Given the description of an element on the screen output the (x, y) to click on. 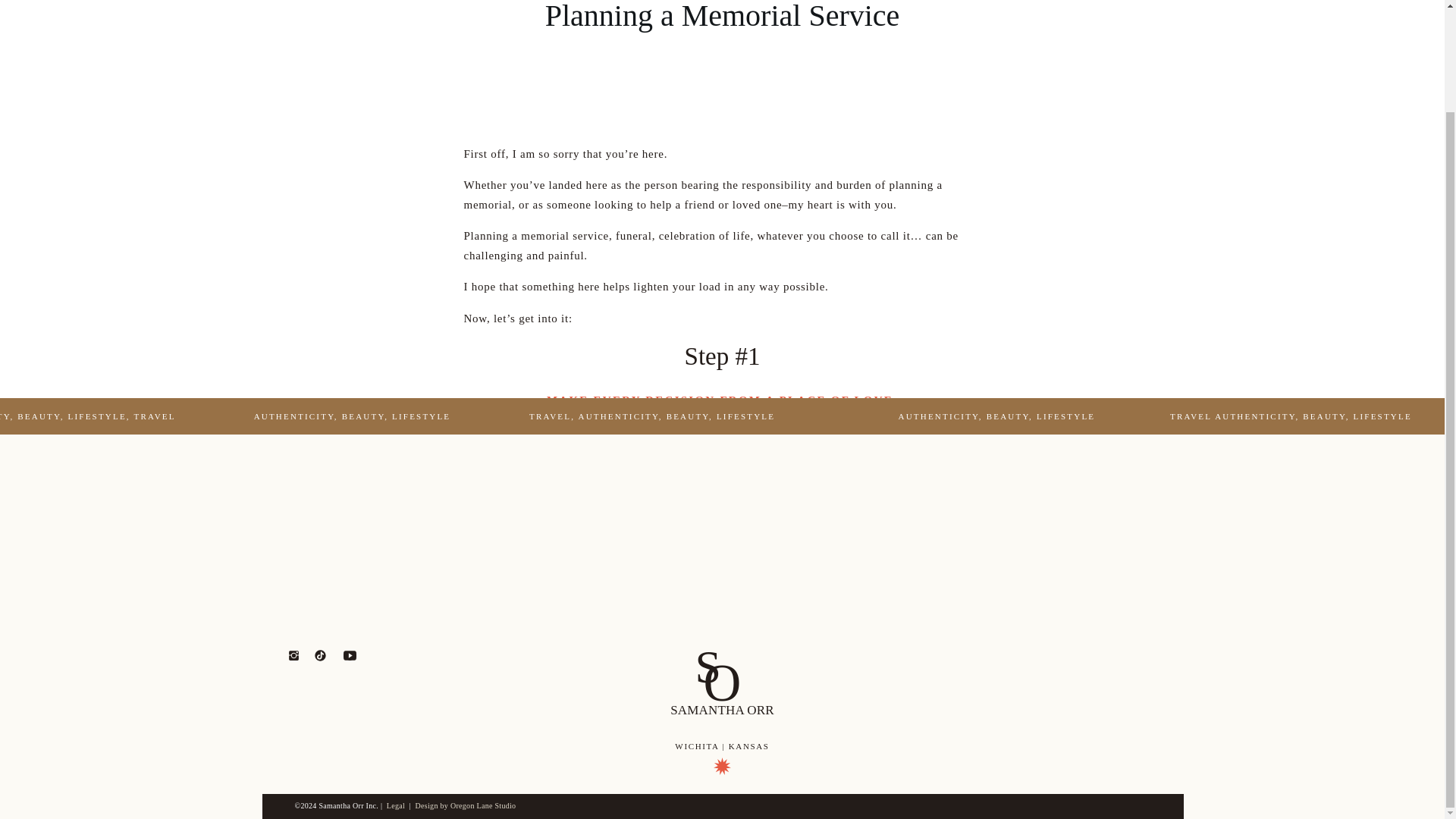
Legal  (397, 805)
Design by Oregon Lane Studio (465, 805)
O (734, 681)
